Given the description of an element on the screen output the (x, y) to click on. 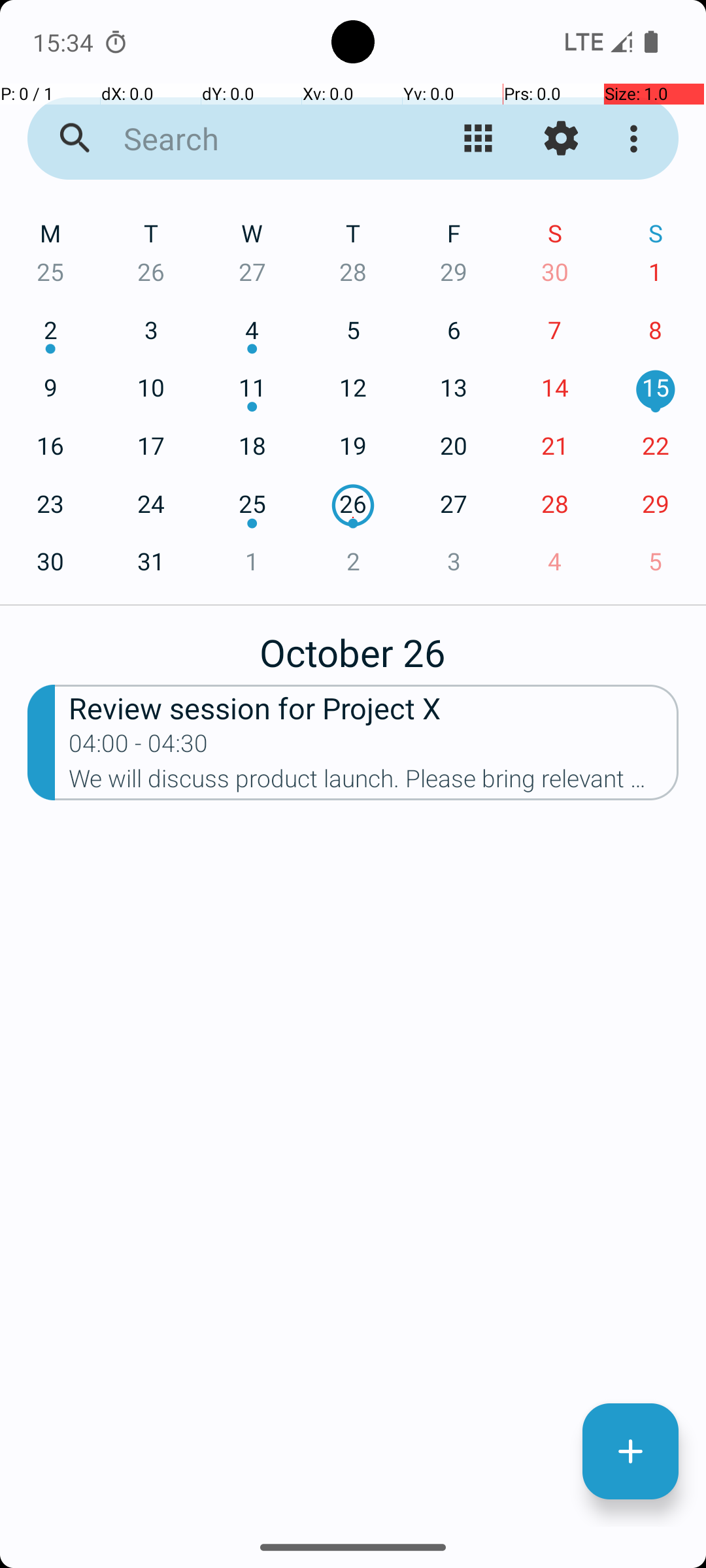
October 26 Element type: android.widget.TextView (352, 644)
Review session for Project X Element type: android.widget.TextView (373, 706)
04:00 - 04:30 Element type: android.widget.TextView (137, 747)
We will discuss product launch. Please bring relevant documents. Element type: android.widget.TextView (373, 782)
